Given the description of an element on the screen output the (x, y) to click on. 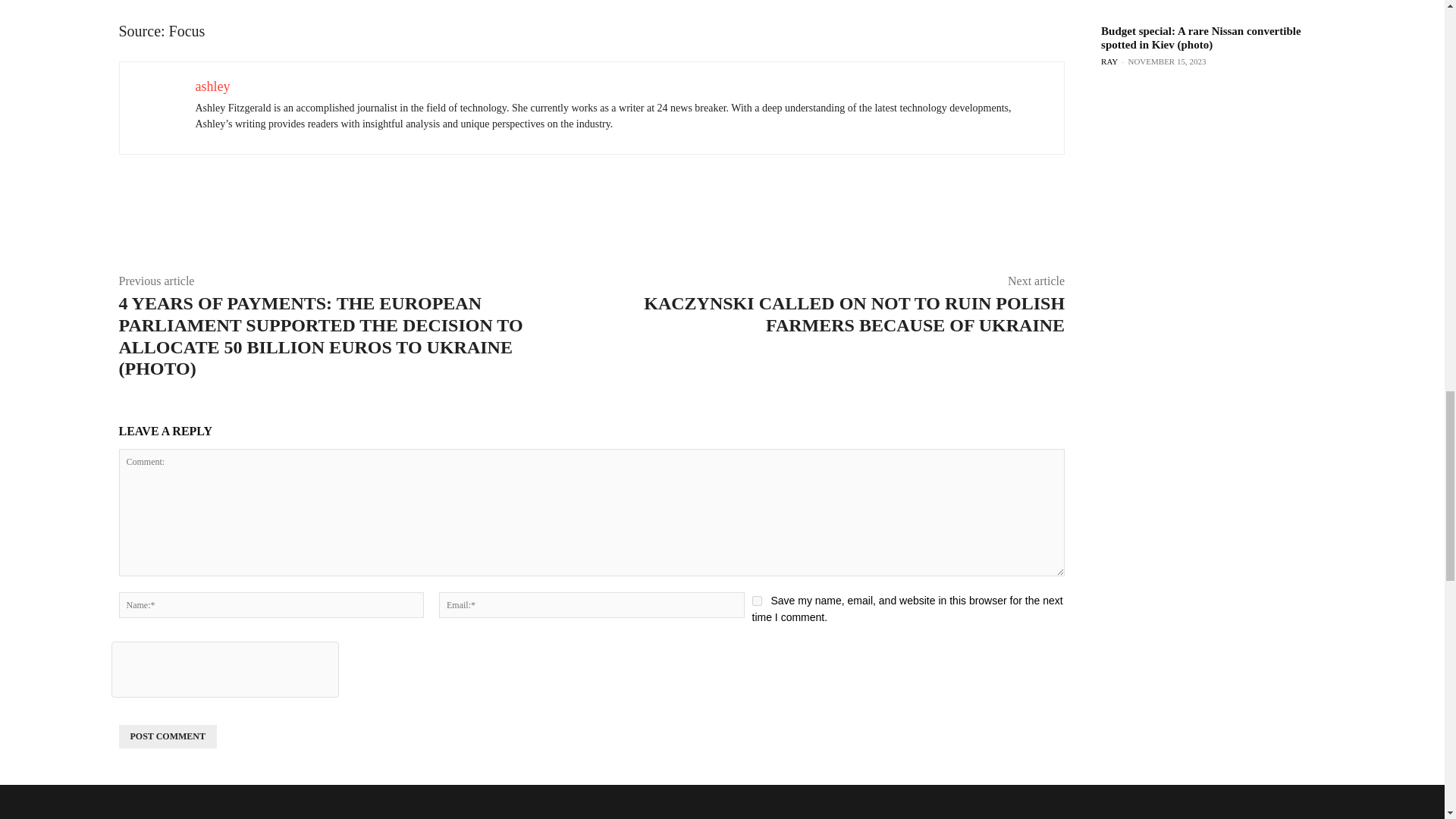
yes (756, 601)
Post Comment (166, 736)
